Given the description of an element on the screen output the (x, y) to click on. 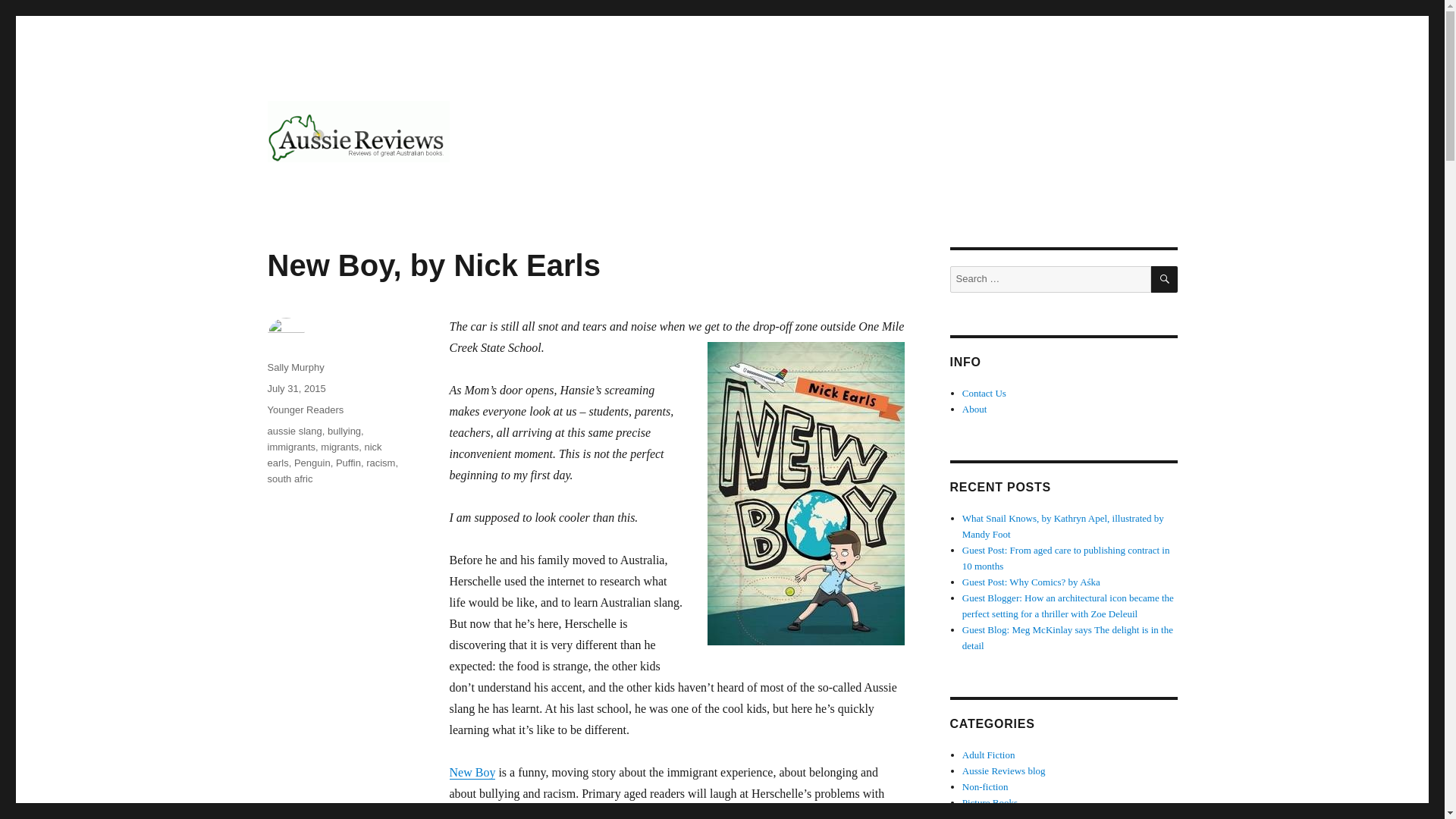
nick earls (323, 454)
Aussie Reviews blog (1003, 770)
immigrants (290, 446)
Uncategorised (990, 816)
racism (380, 462)
Guest Blog: Meg McKinlay says The delight is in the detail (1067, 637)
bullying (344, 430)
Adult Fiction (988, 754)
Contact Us (984, 392)
Younger Readers (304, 409)
Non-fiction (985, 786)
Picture Books (989, 802)
About (974, 408)
New Boy (471, 771)
